Given the description of an element on the screen output the (x, y) to click on. 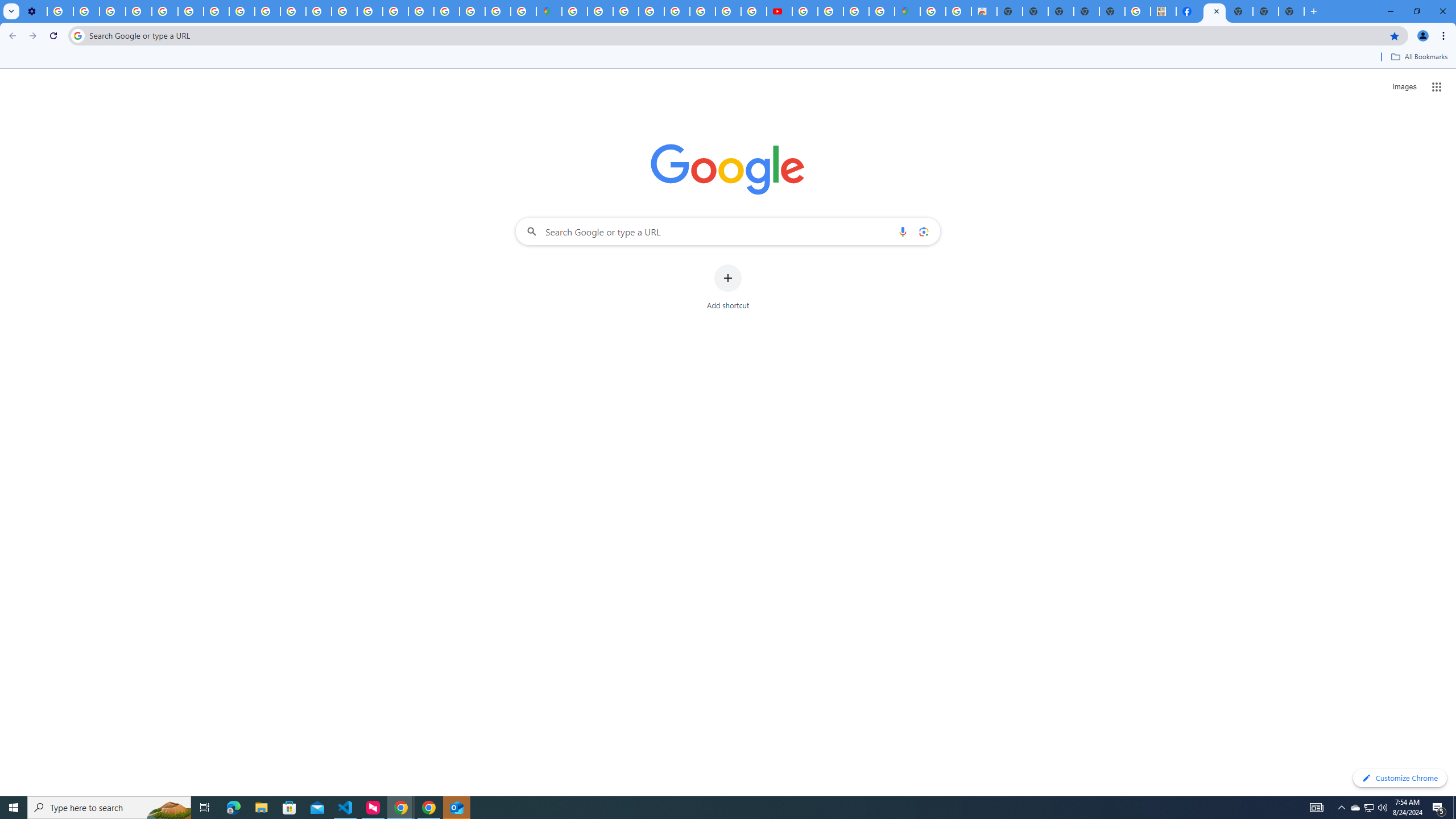
Search for Images  (1403, 87)
Miley Cyrus | Facebook (1188, 11)
New Tab (1291, 11)
Privacy Help Center - Policies Help (702, 11)
Search by image (922, 230)
Privacy Checkup (266, 11)
Settings - Customize profile (34, 11)
Search by voice (902, 230)
